Given the description of an element on the screen output the (x, y) to click on. 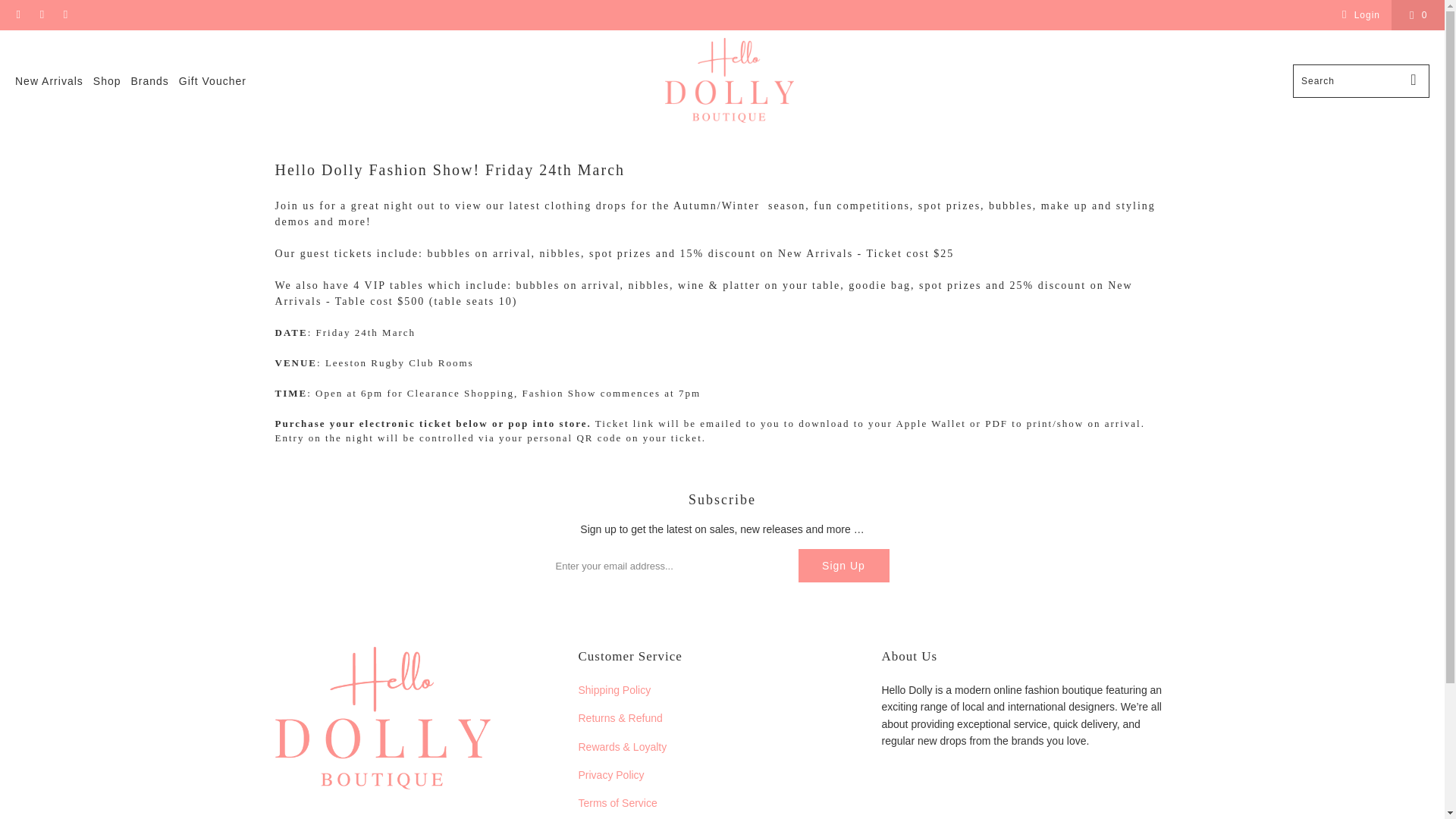
Gift Voucher (212, 81)
Hello Dolly Boutique on Facebook (17, 14)
My Account  (1358, 14)
Hello Dolly Boutique (729, 81)
Email Hello Dolly Boutique (64, 14)
Sign Up (842, 565)
Brands (149, 81)
New Arrivals (48, 81)
Login (1358, 14)
Hello Dolly Boutique on Instagram (41, 14)
